Given the description of an element on the screen output the (x, y) to click on. 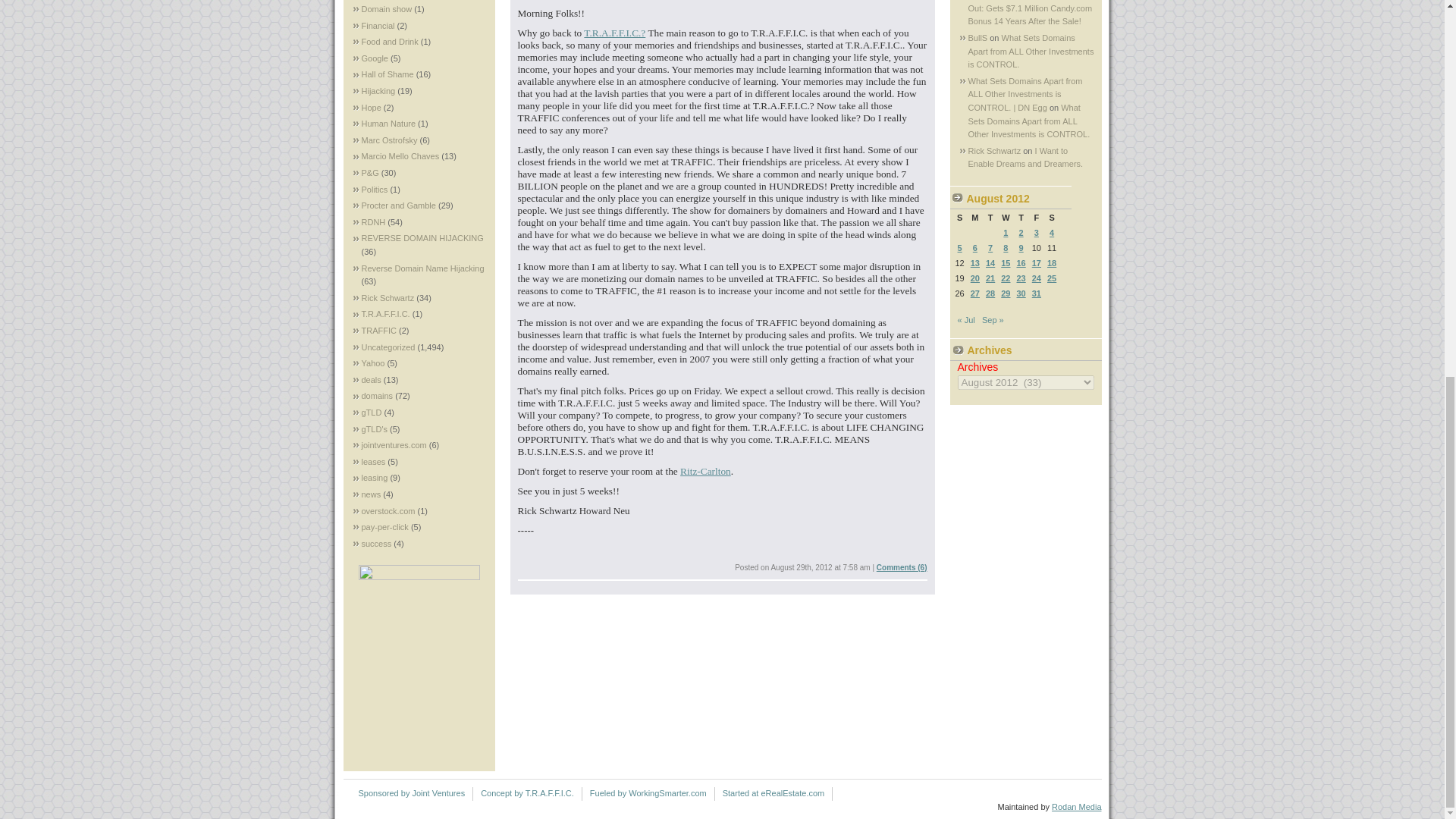
Wednesday (1004, 217)
Friday (1036, 217)
RDNH (373, 221)
Marc Ostrofsky (388, 139)
Human Nature (387, 122)
Thursday (1020, 217)
Hope (370, 107)
Hijacking (377, 90)
Saturday (1051, 217)
Procter and Gamble (398, 204)
